Given the description of an element on the screen output the (x, y) to click on. 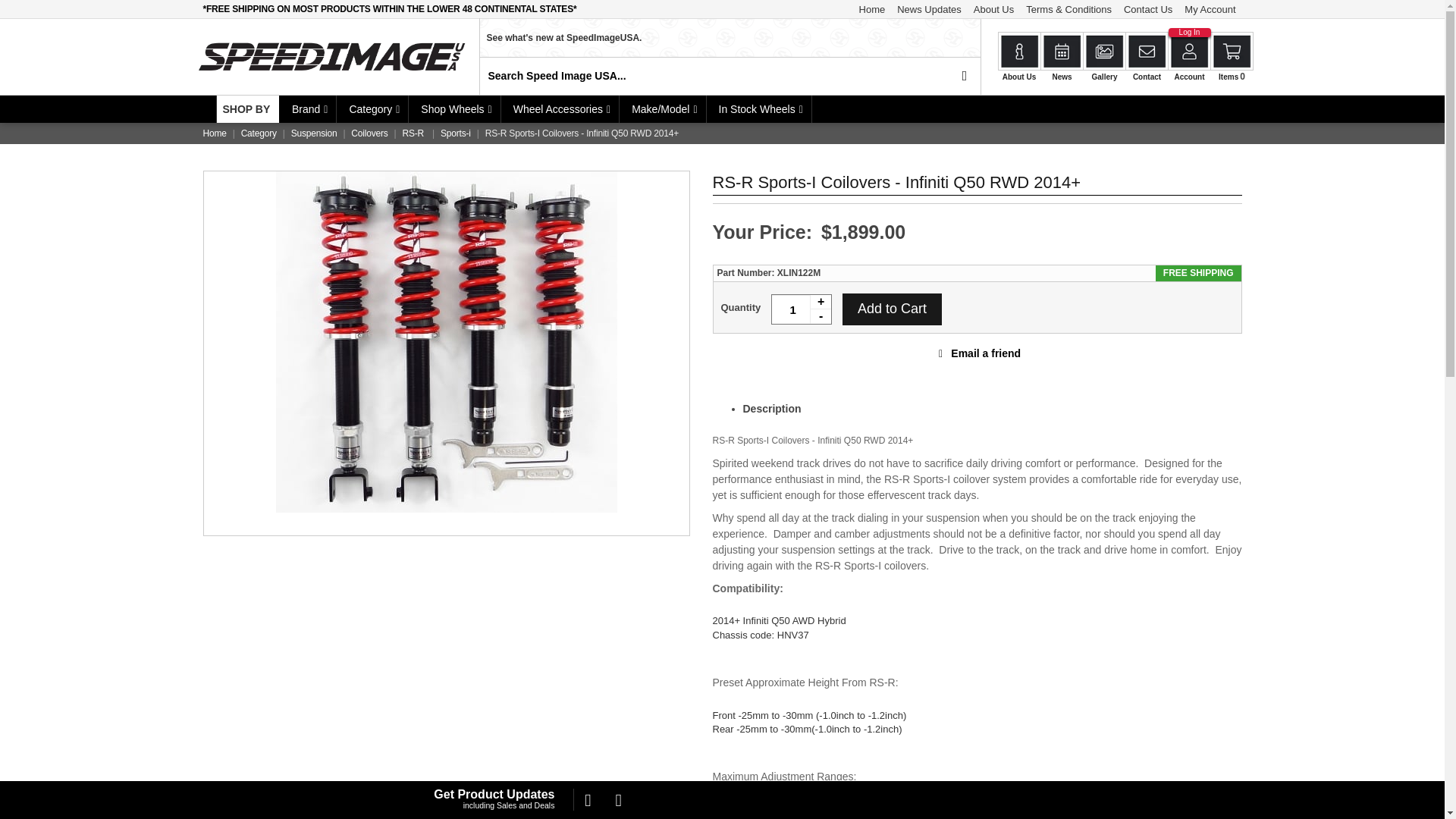
Home (872, 9)
1 (801, 309)
About Us (994, 9)
Follow Us on Instagram (618, 799)
See what's new at SpeedImageUSA. (721, 56)
See what's new at SpeedImageUSA. (730, 37)
My Account (1209, 9)
Brand (307, 108)
Contact Us (1147, 9)
Like Us on Facebook (587, 799)
